Given the description of an element on the screen output the (x, y) to click on. 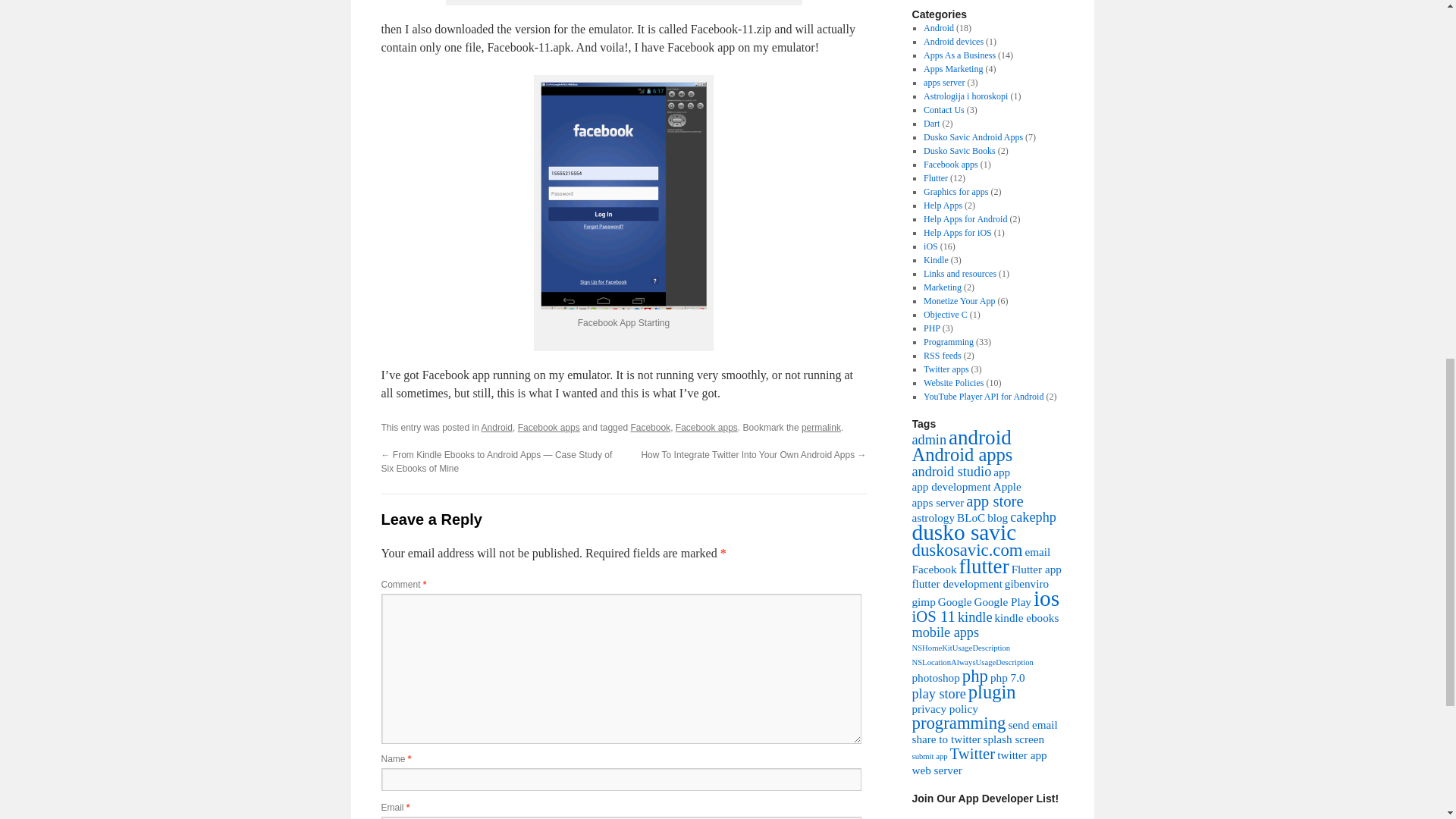
Android devices (953, 41)
Facebook apps (706, 427)
Apps Marketing (952, 68)
Astrologija i horoskopi (965, 95)
apps server (943, 81)
permalink (821, 427)
Facebook (649, 427)
Facebook apps (548, 427)
Android (496, 427)
